Given the description of an element on the screen output the (x, y) to click on. 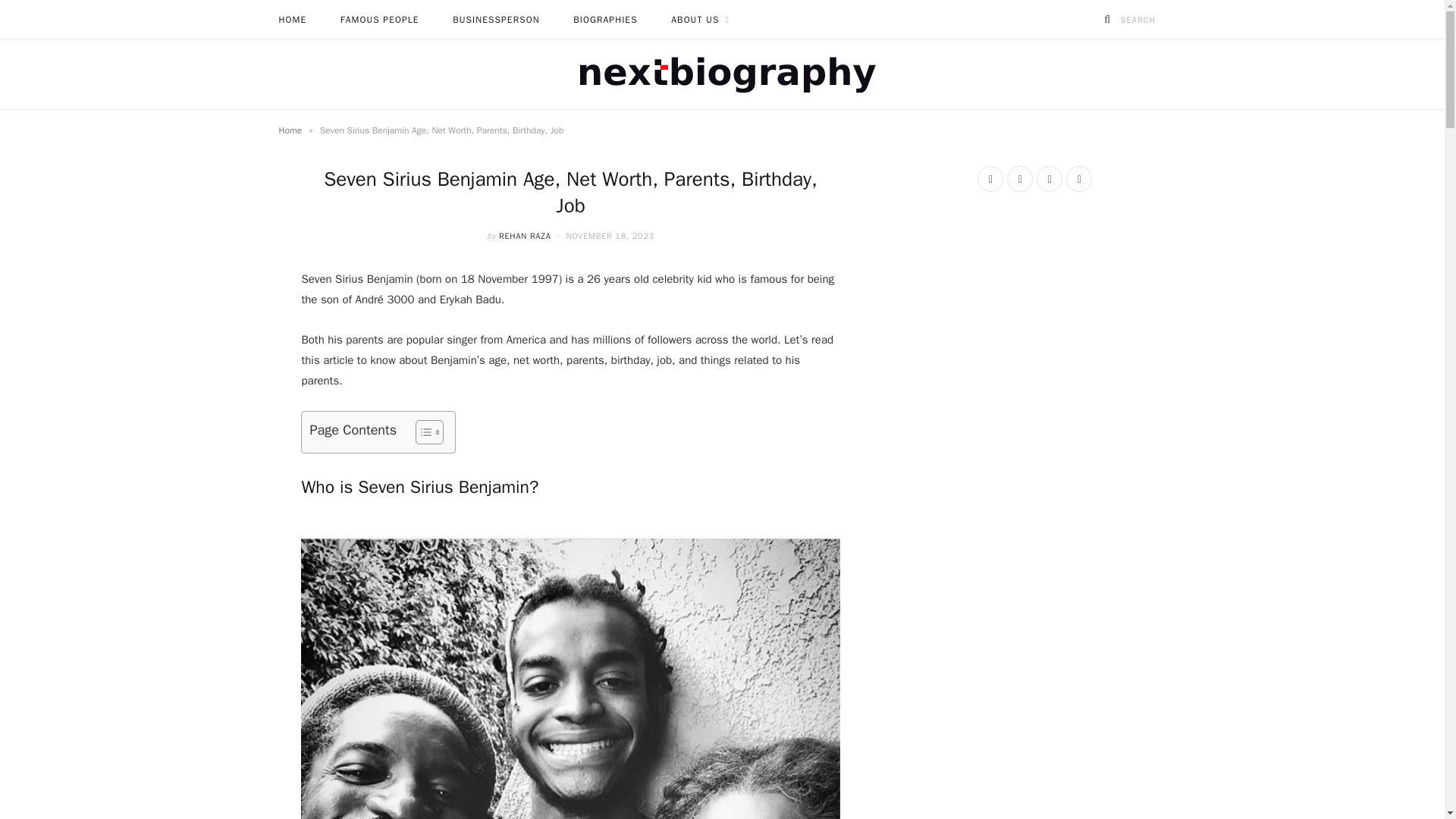
Home (290, 130)
RSS (1078, 178)
ABOUT US (700, 19)
NOVEMBER 18, 2023 (609, 235)
BIOGRAPHIES (604, 19)
Next biography (722, 74)
FAMOUS PEOPLE (378, 19)
Facebook (989, 178)
Twitter (1019, 178)
REHAN RAZA (525, 235)
